Given the description of an element on the screen output the (x, y) to click on. 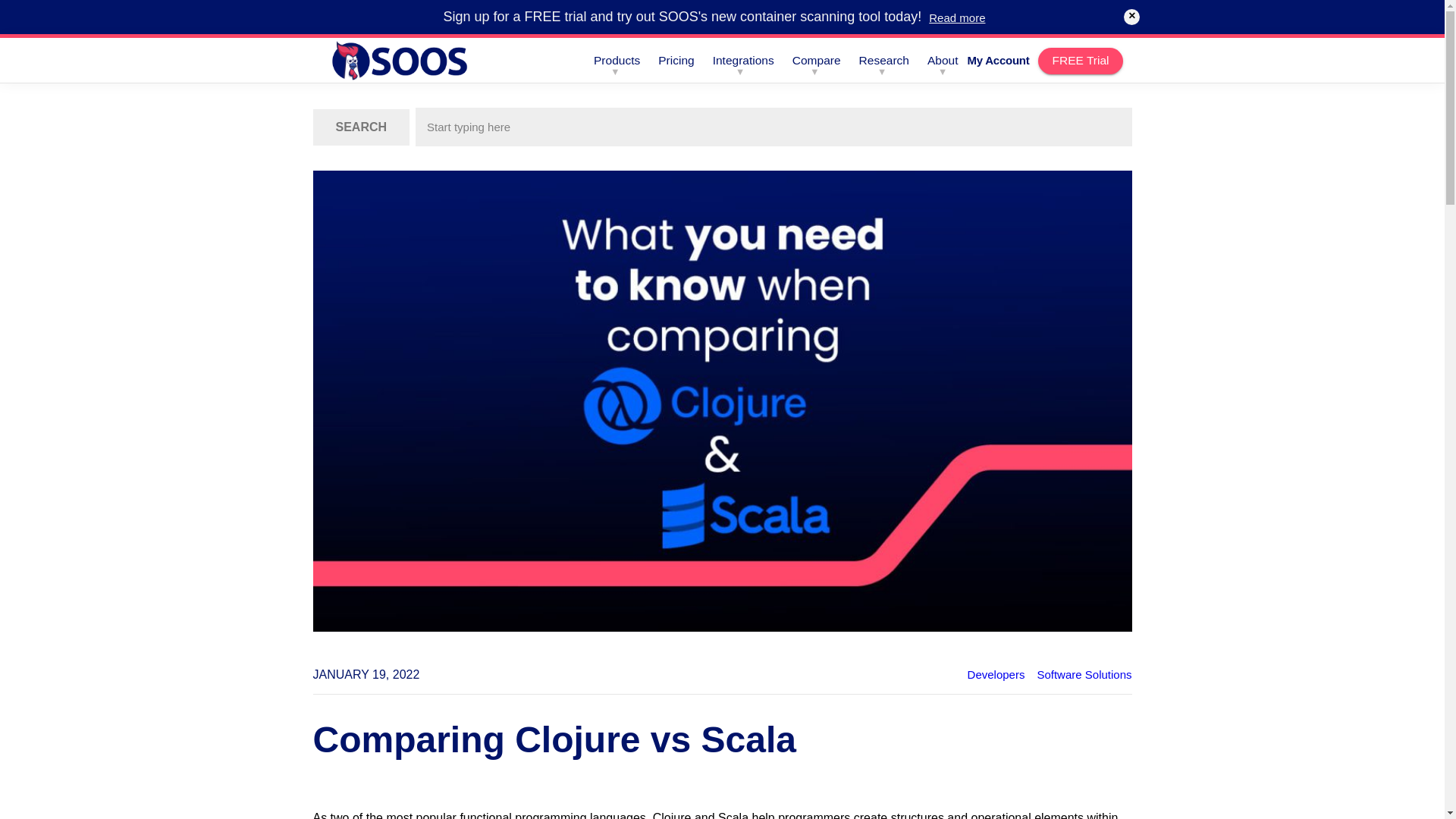
Integrations (743, 60)
Search (361, 126)
Research (884, 60)
Compare (816, 60)
Search (361, 126)
About (943, 60)
Products (617, 60)
Read more (956, 17)
Pricing (676, 60)
